Given the description of an element on the screen output the (x, y) to click on. 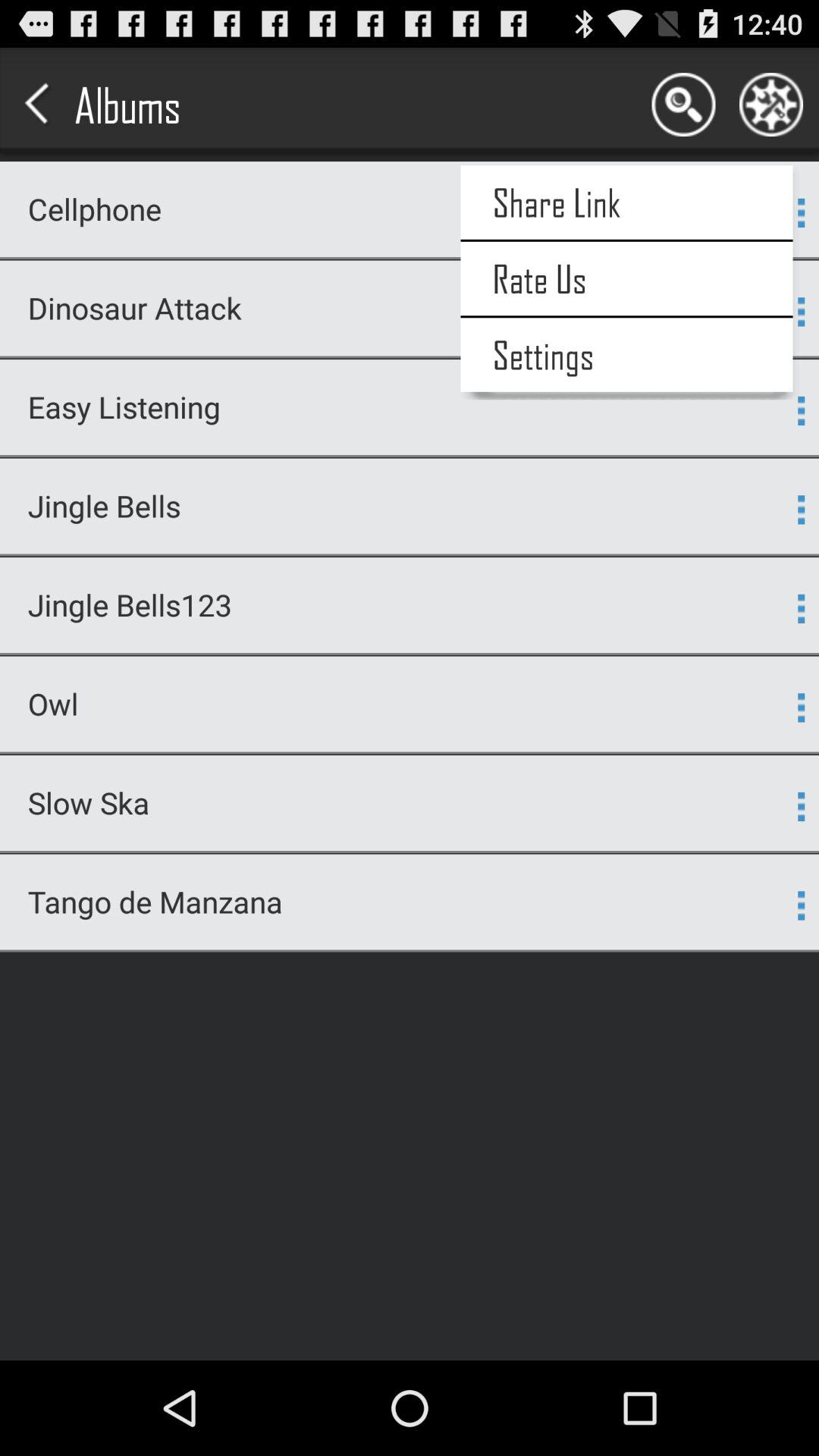
click on 3 dots which is beside share link (800, 212)
go to search (683, 104)
click on the arrow on left side of albums (39, 105)
the last dot menu icon of the page (800, 905)
select the second 3dots from the bottom (800, 806)
select the third menu button from bottom (800, 707)
